Given the description of an element on the screen output the (x, y) to click on. 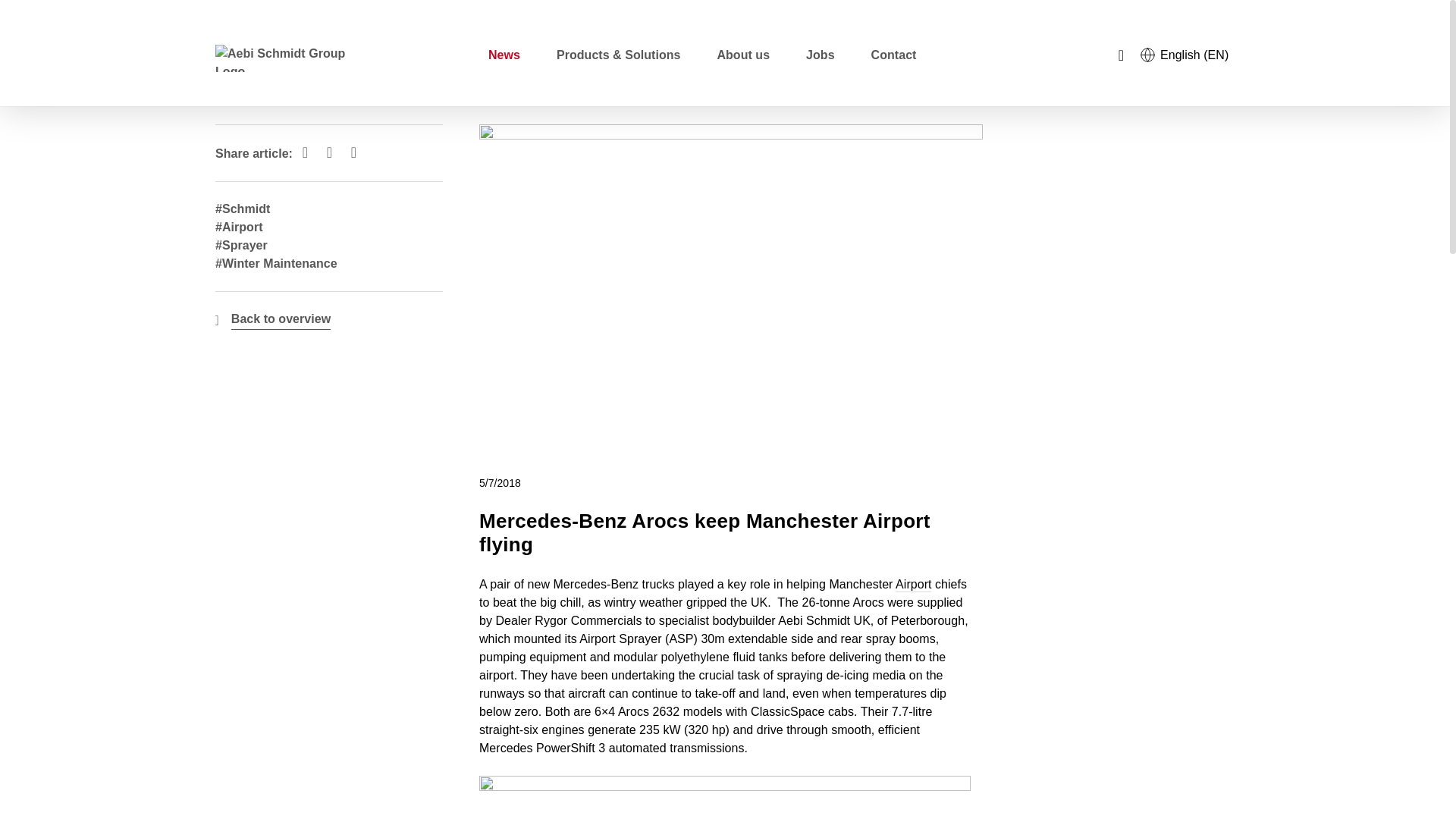
Back to overview (280, 319)
Airport (913, 584)
